Given the description of an element on the screen output the (x, y) to click on. 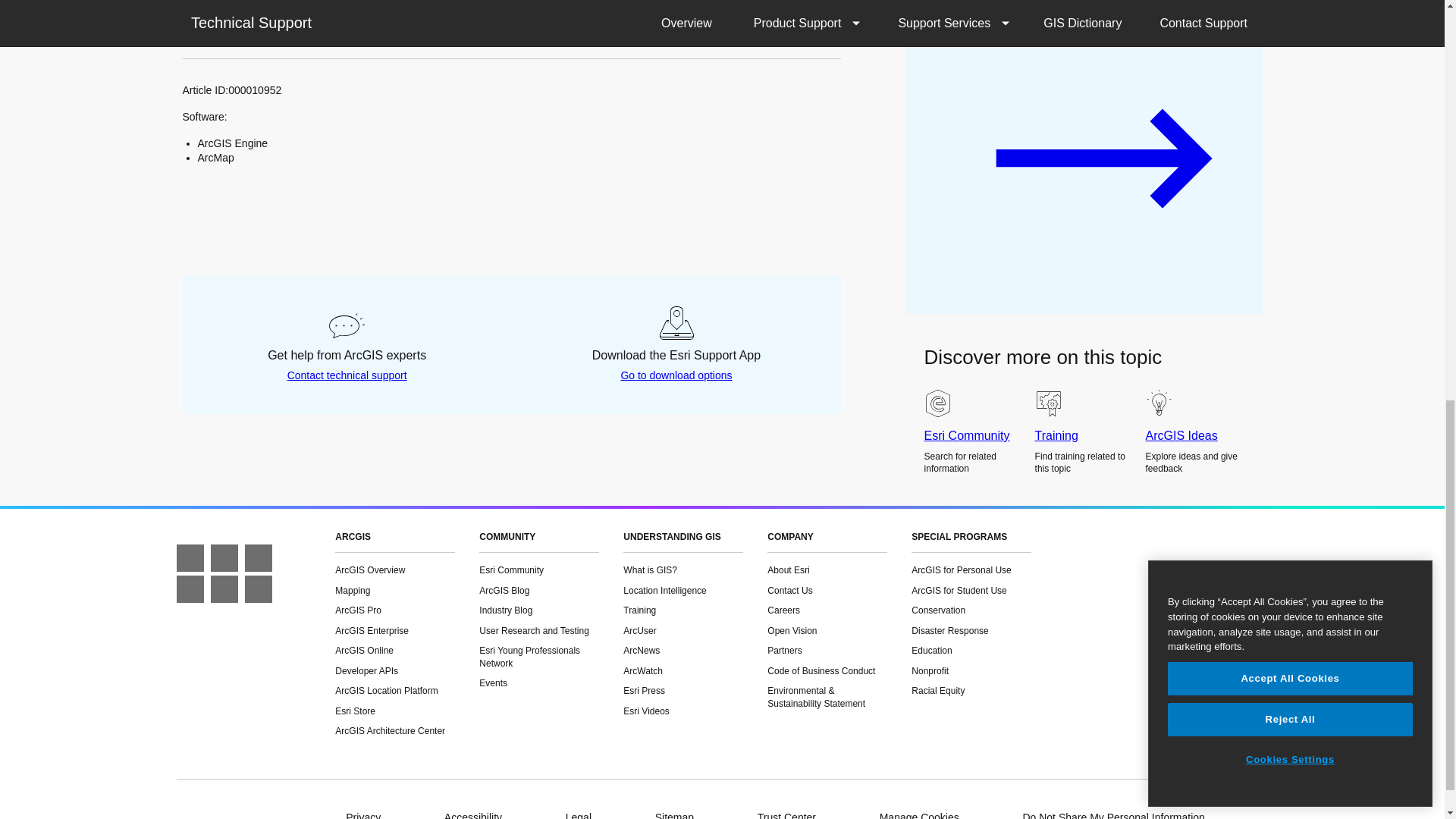
Twitter (224, 557)
YouTube (257, 588)
Esri Community (189, 588)
Facebook (189, 557)
LinkedIn (257, 557)
Instagram (224, 588)
